Given the description of an element on the screen output the (x, y) to click on. 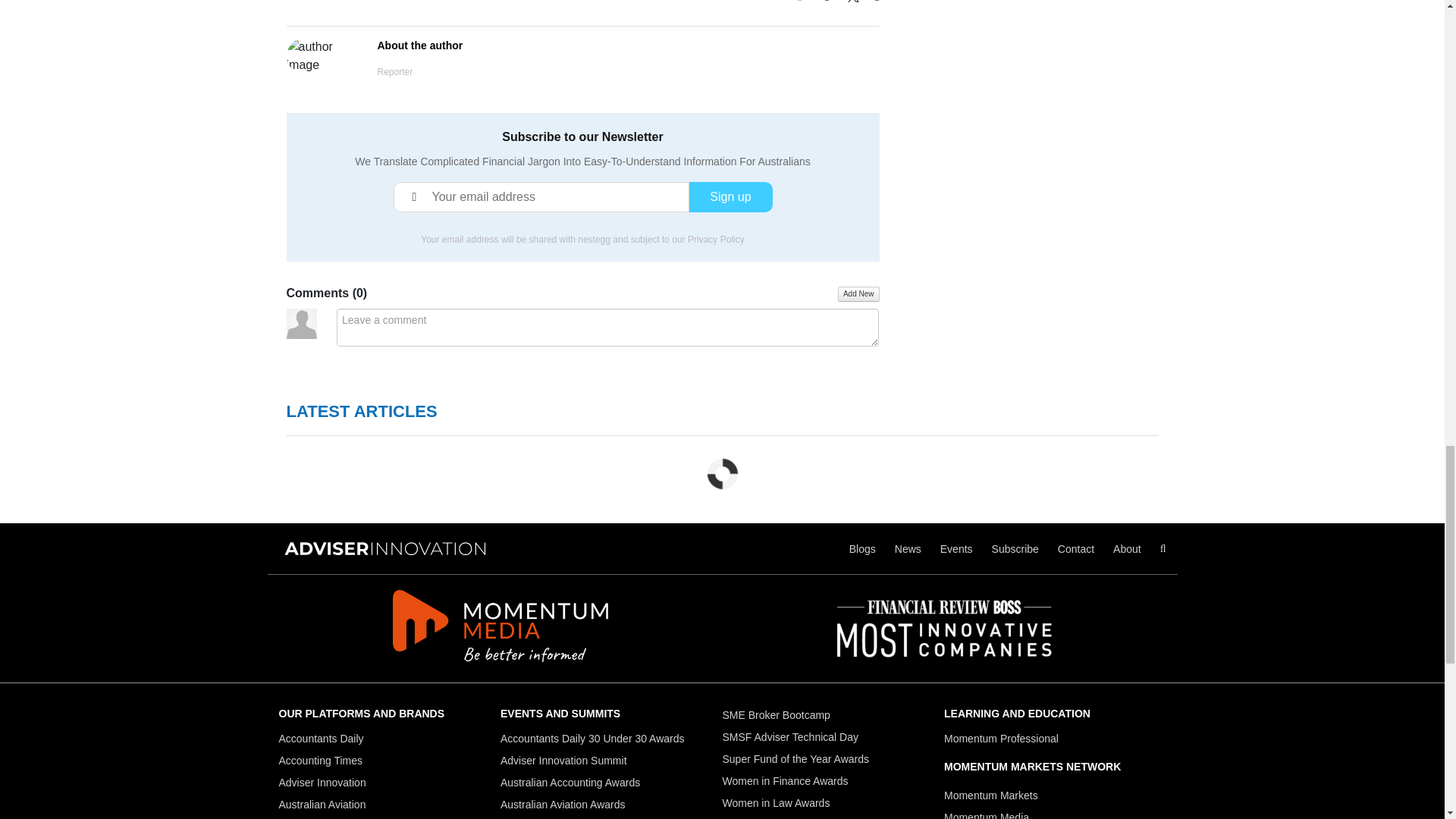
Add New (858, 294)
